Given the description of an element on the screen output the (x, y) to click on. 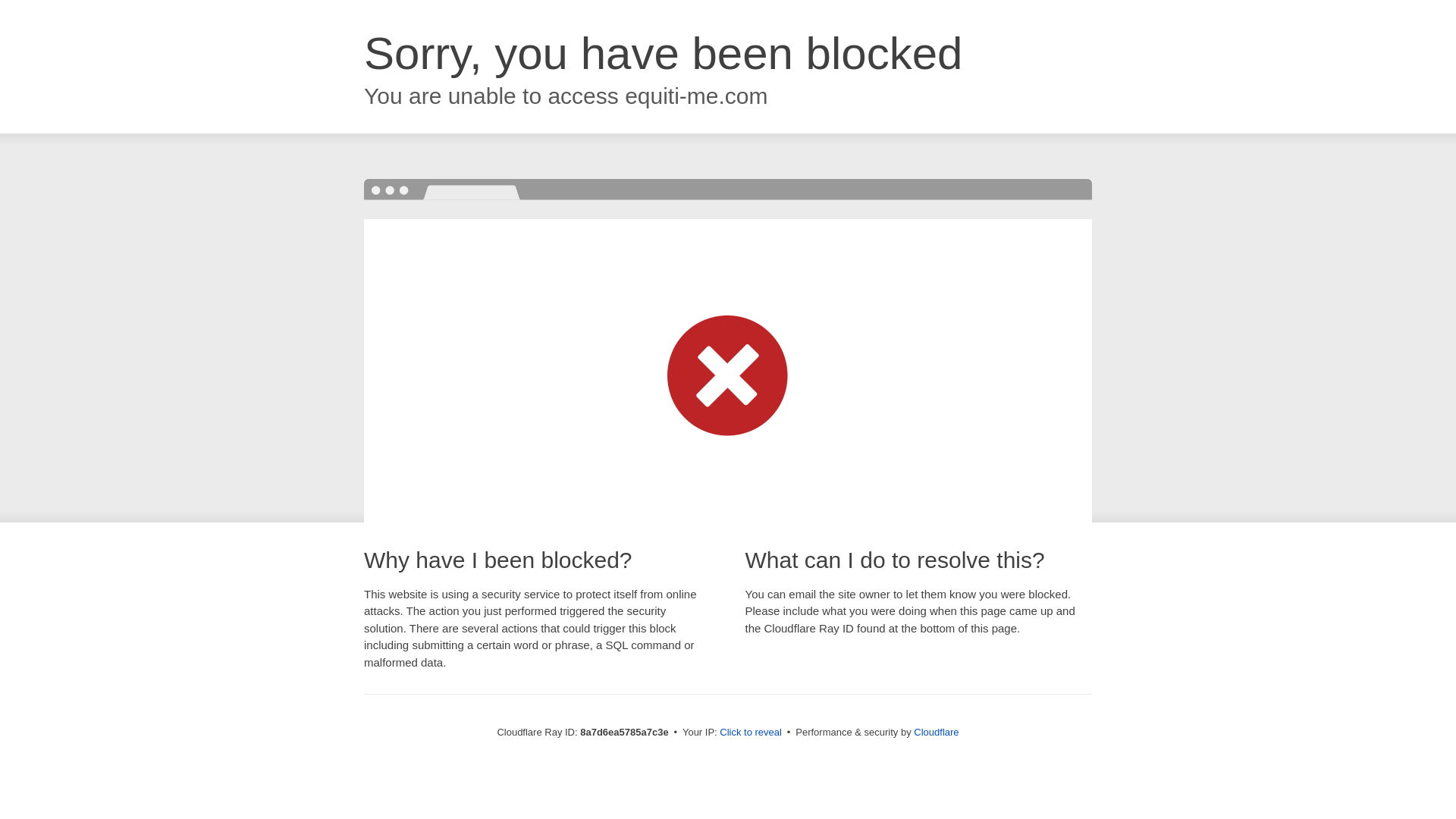
Click to reveal (750, 732)
Cloudflare (936, 731)
